Given the description of an element on the screen output the (x, y) to click on. 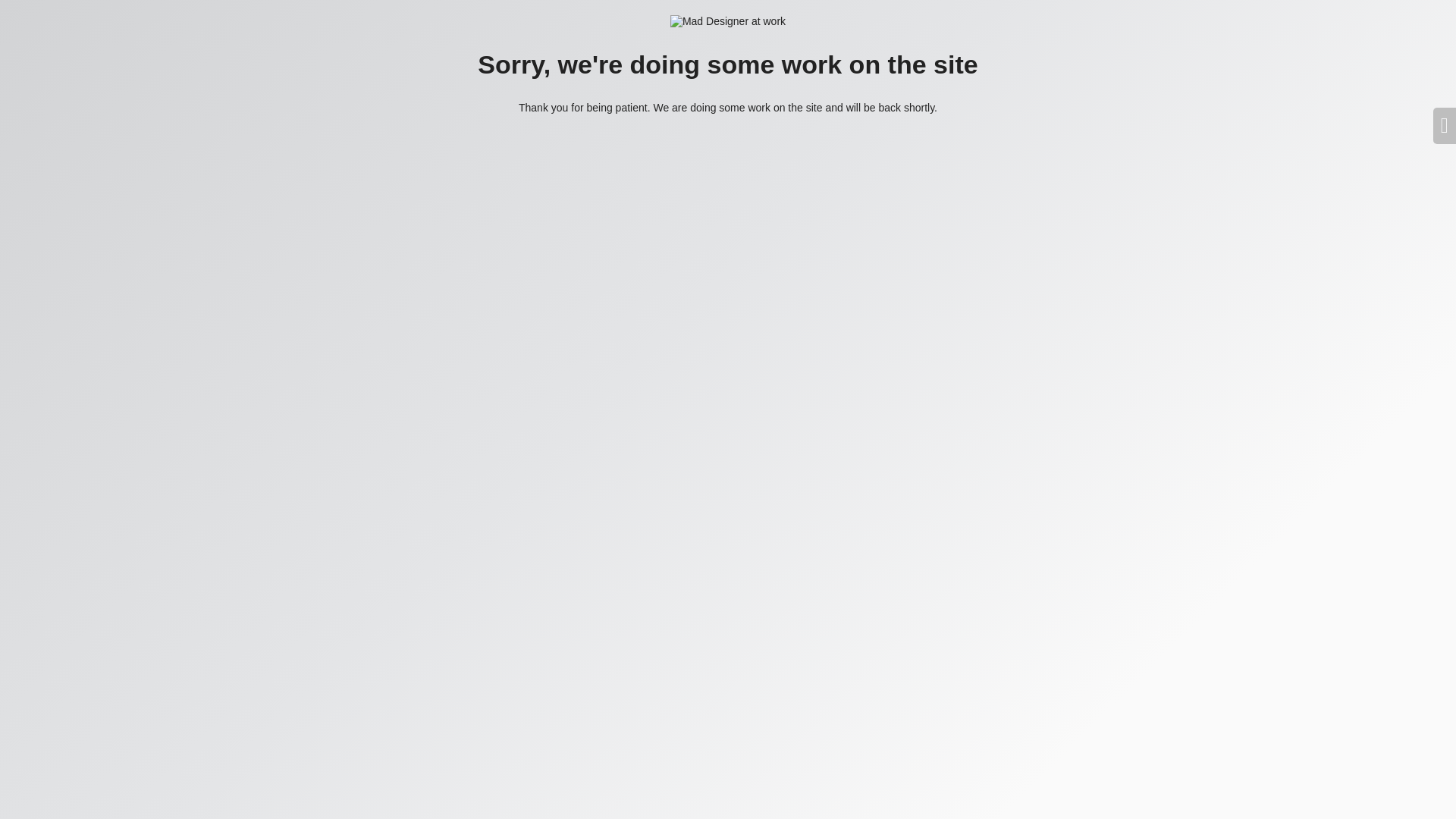
Mad Designer at work Element type: hover (727, 21)
